Given the description of an element on the screen output the (x, y) to click on. 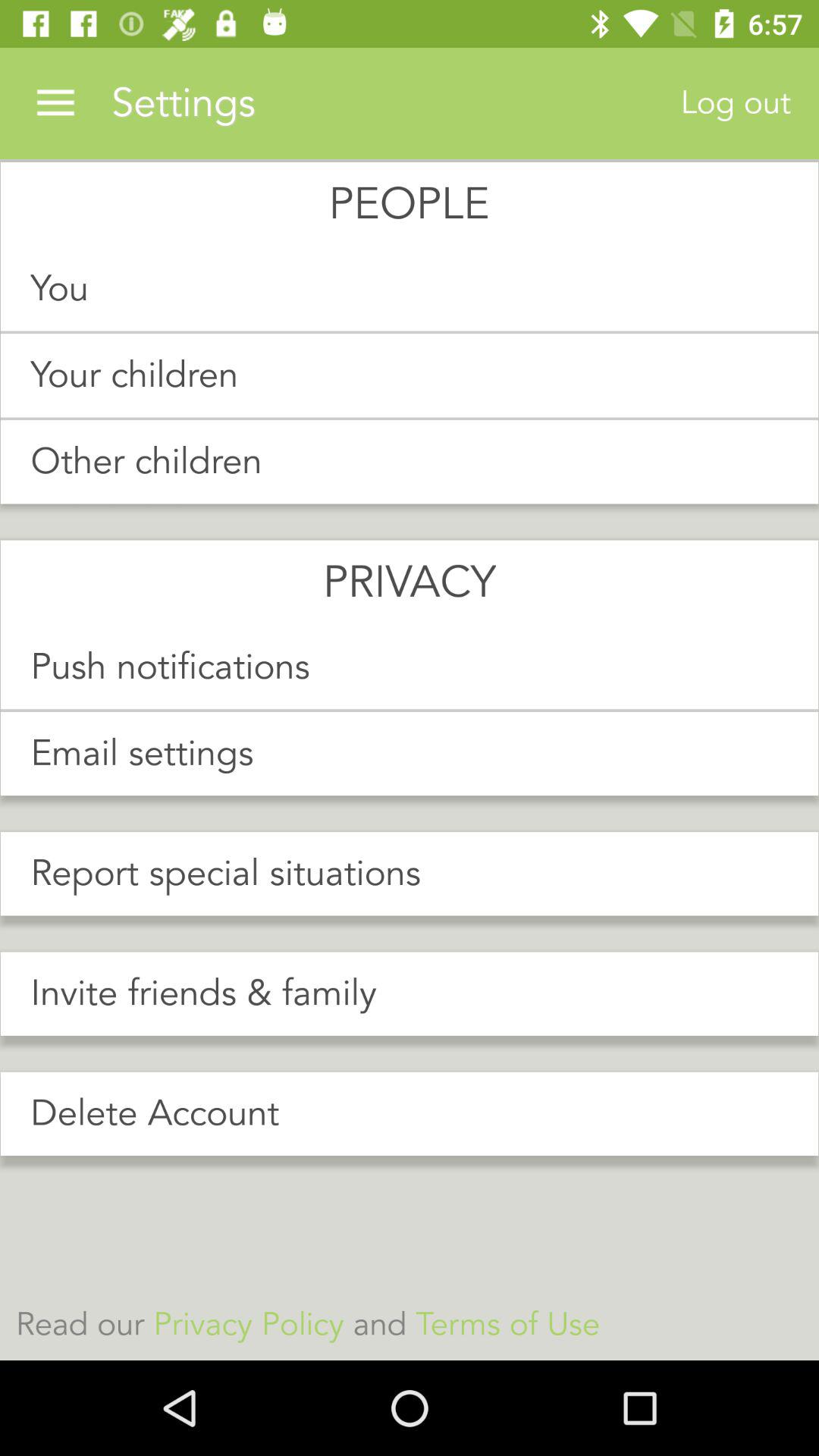
choose the item below invite friends & family (409, 1113)
